Given the description of an element on the screen output the (x, y) to click on. 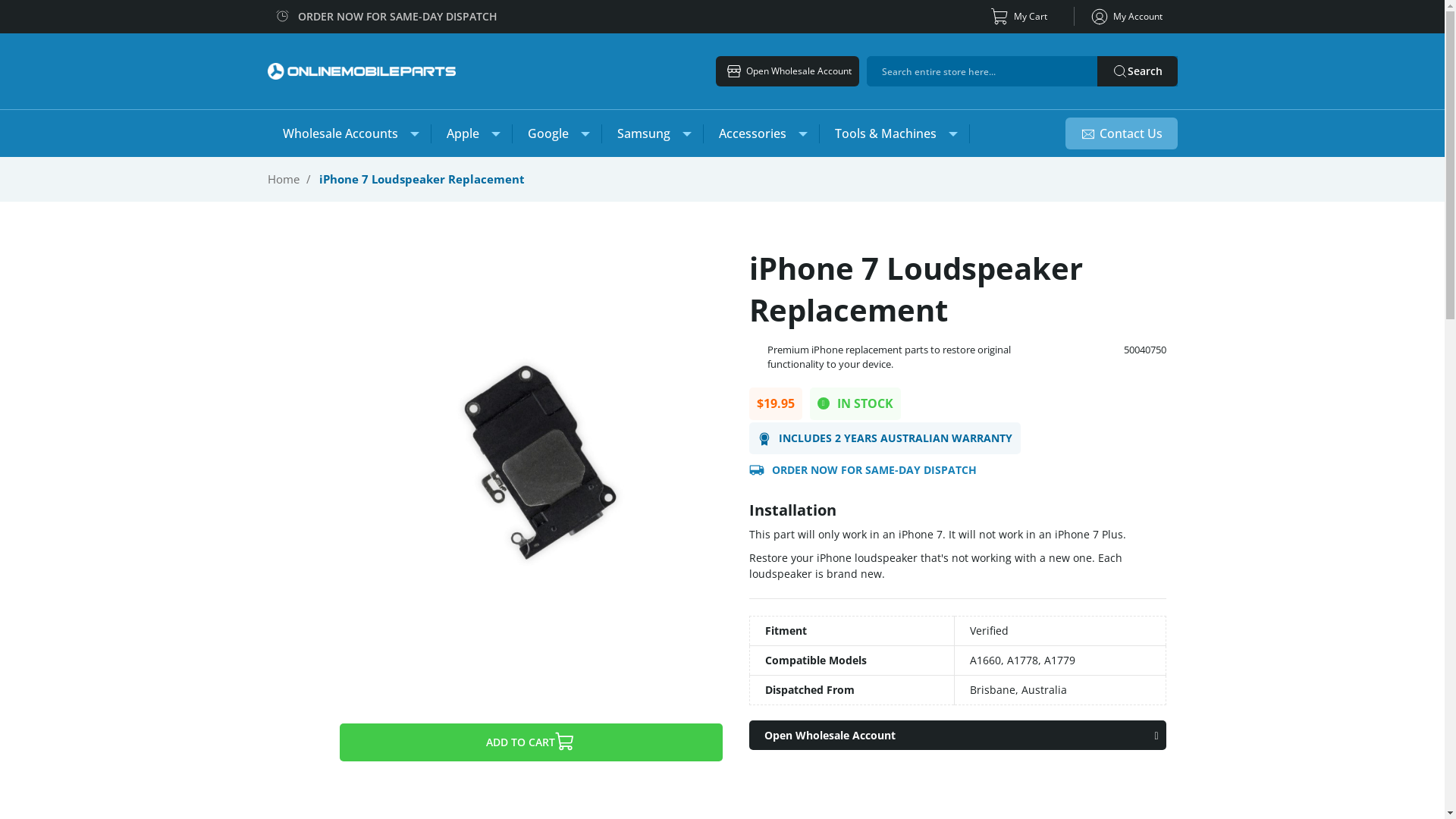
My Account Element type: text (1124, 16)
Online Mobile Parts Logo Element type: hover (360, 70)
Open Wholesale Account Element type: text (787, 71)
Contact Us Element type: text (1120, 133)
Samsung Element type: text (652, 133)
Apple Element type: text (470, 133)
Google Element type: text (556, 133)
Accessories Element type: text (761, 133)
Tools & Machines Element type: text (893, 133)
Home Element type: text (282, 178)
Skip to the beginning of the images gallery Element type: text (277, 690)
Wholesale Accounts Element type: text (347, 133)
My Cart Element type: text (1020, 16)
Open Wholesale Account Element type: text (957, 734)
ADD TO CART Element type: text (530, 742)
Search Element type: text (1136, 71)
Skip to the end of the images gallery Element type: text (277, 246)
